Given the description of an element on the screen output the (x, y) to click on. 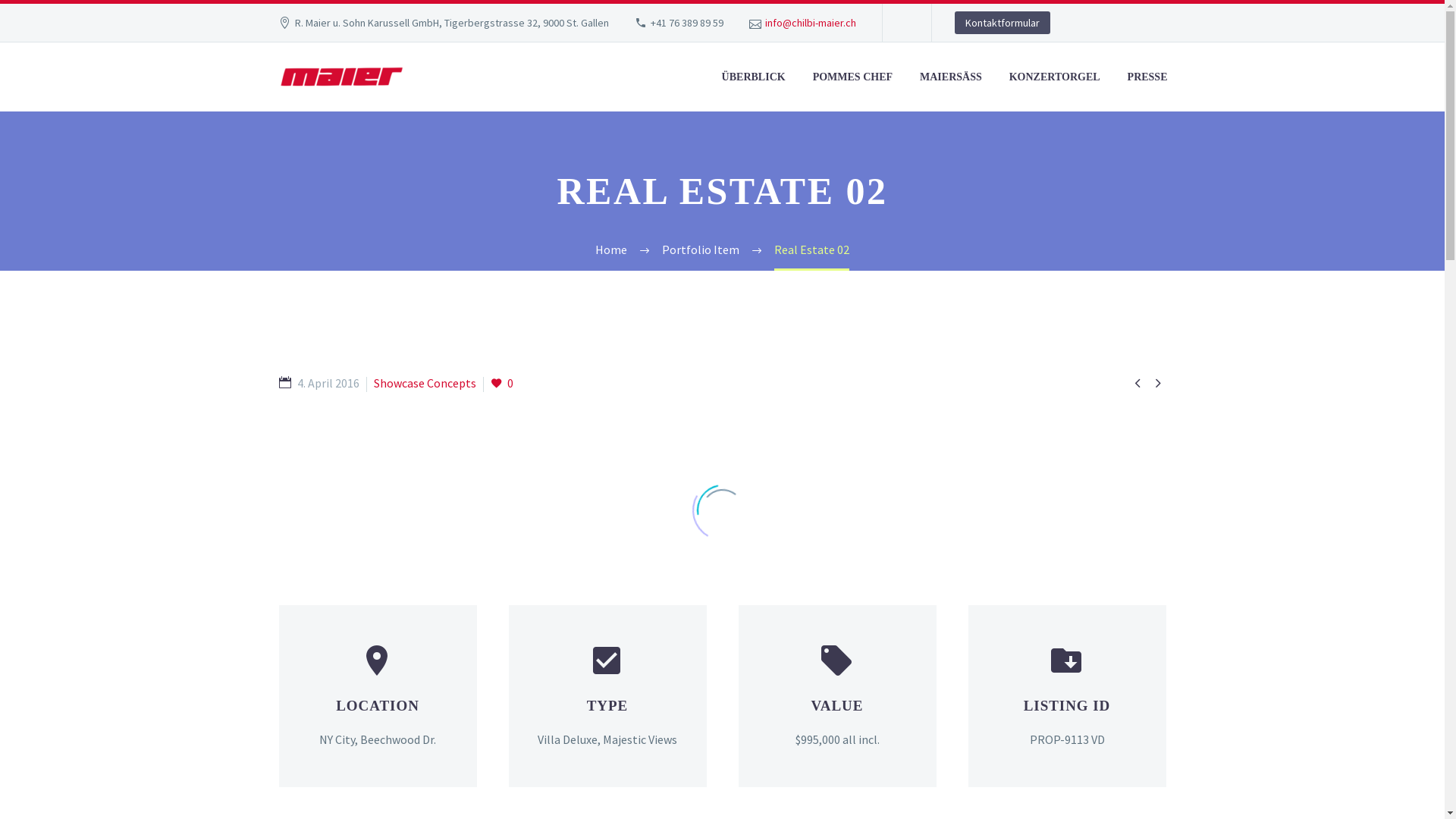
info@chilbi-maier.ch Element type: text (810, 22)
Kontaktformular Element type: text (1002, 22)
POMMES CHEF Element type: text (852, 76)
Home Element type: text (611, 249)
PRESSE Element type: text (1147, 76)
KONZERTORGEL Element type: text (1054, 76)
Portfolio Item Element type: text (700, 249)
0 Element type: text (500, 382)
